Given the description of an element on the screen output the (x, y) to click on. 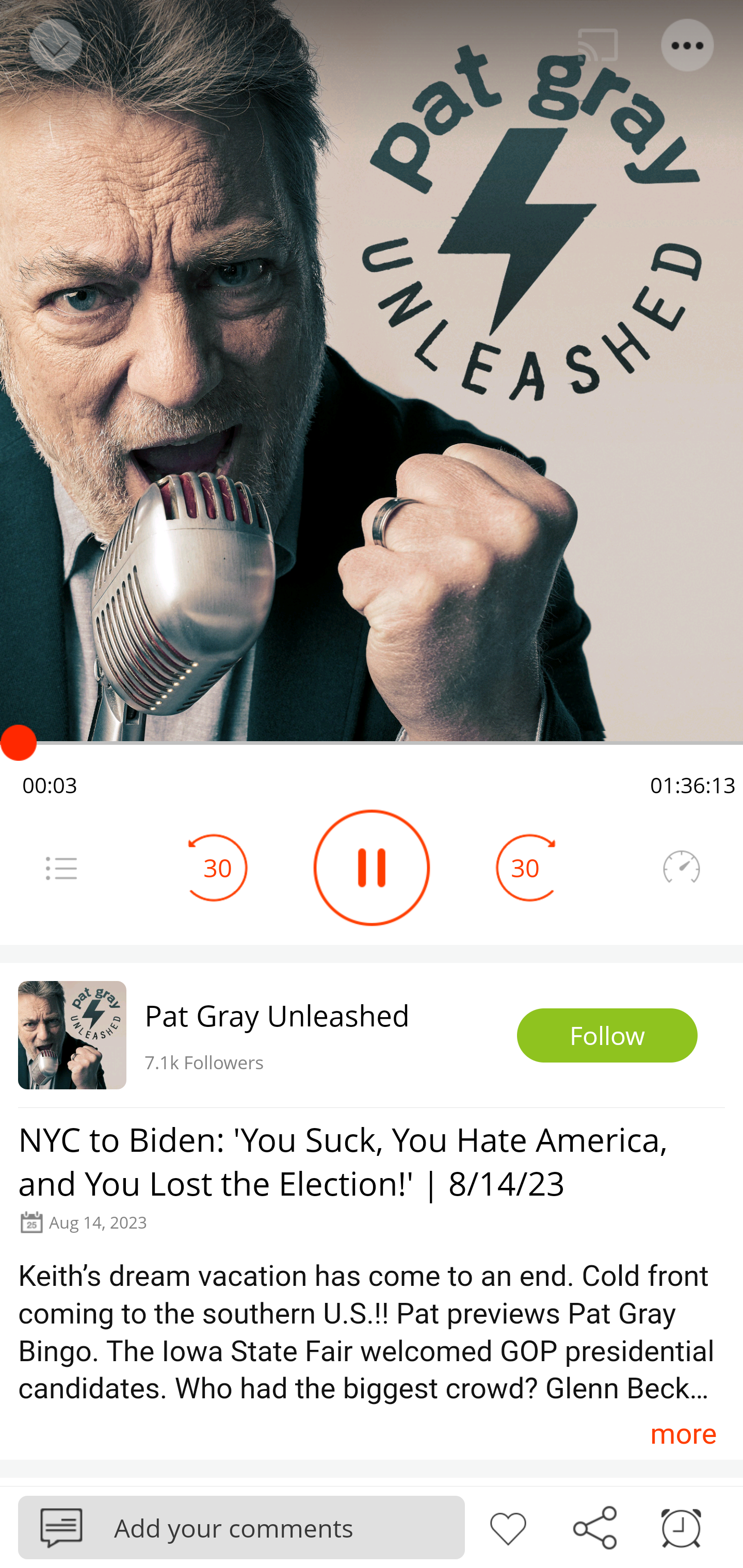
Back (53, 45)
Cast. Disconnected (597, 45)
Menu (688, 45)
Play (371, 867)
30 Seek Backward (217, 867)
30 Seek Forward (525, 867)
Menu (60, 867)
Speedometer (681, 867)
Pat Gray Unleashed 7.1k Followers Follow (371, 1034)
Follow (607, 1035)
more (682, 1432)
Like (508, 1526)
Share (594, 1526)
Sleep timer (681, 1526)
Podbean Add your comments (241, 1526)
